Given the description of an element on the screen output the (x, y) to click on. 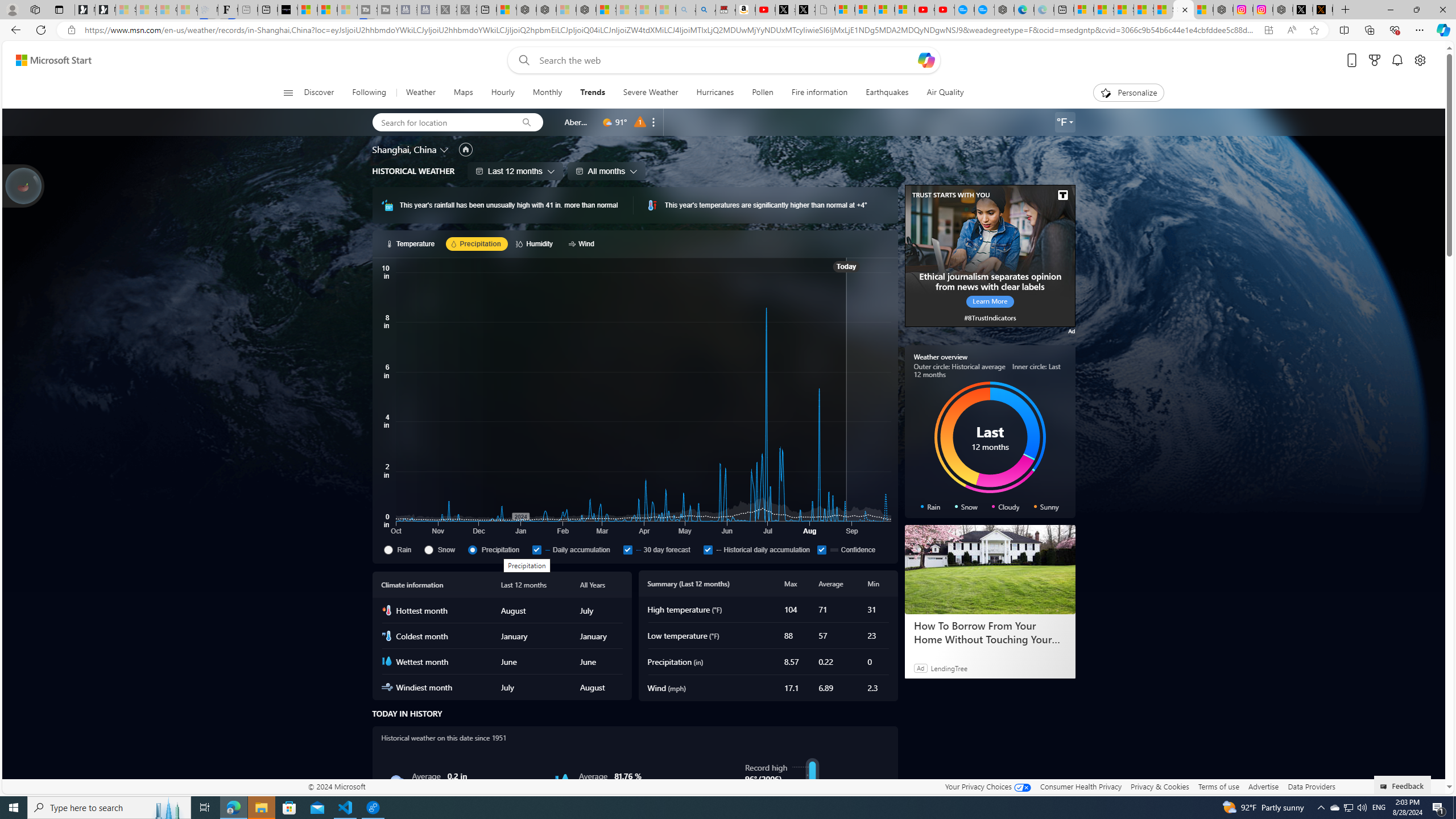
Historical daily accumulation (707, 549)
